Given the description of an element on the screen output the (x, y) to click on. 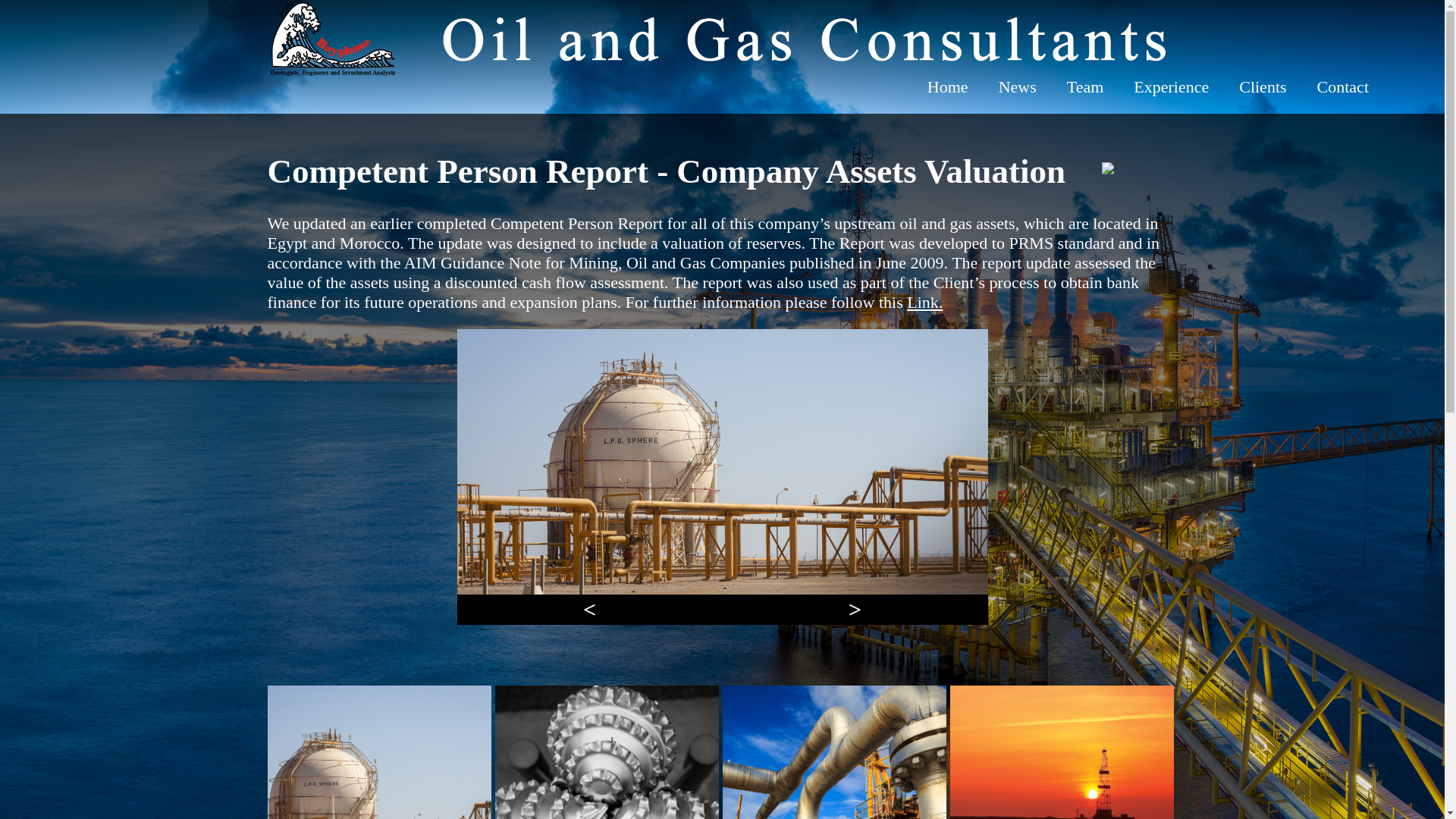
Home (948, 87)
Contact (1342, 87)
Team (1085, 87)
Experience (1171, 87)
Link. (924, 302)
News (1017, 87)
Clients (1262, 87)
